Given the description of an element on the screen output the (x, y) to click on. 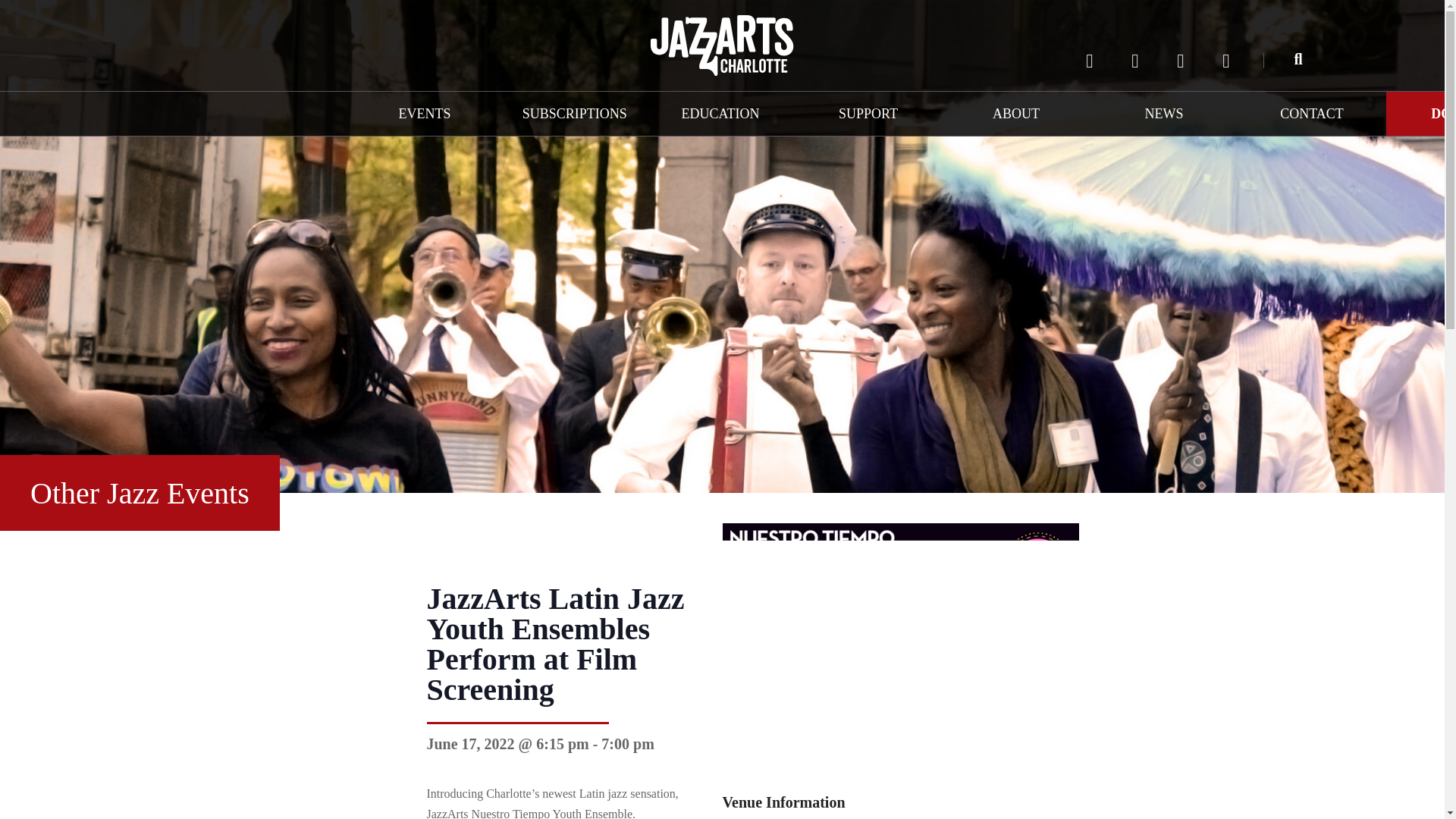
EDUCATION (719, 113)
SUPPORT (868, 113)
EVENTS (423, 113)
SUBSCRIPTIONS (572, 113)
